Given the description of an element on the screen output the (x, y) to click on. 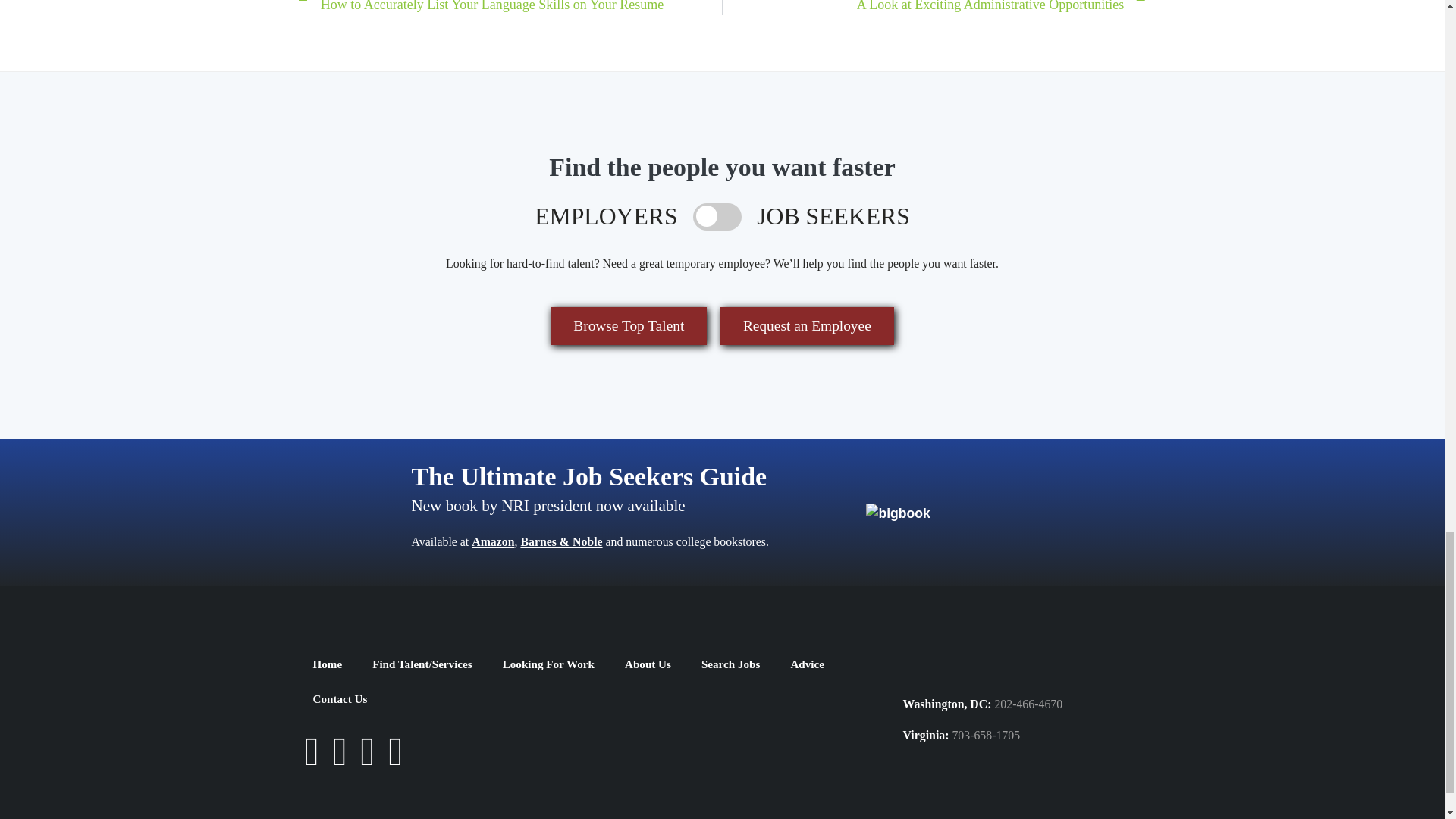
Connect with NRI, Inc on LinkedIn (367, 760)
Follow NRI, Inc on Facebook (310, 760)
Our Blog (395, 760)
Follow NRI, Inc on Twitter (338, 760)
bigbook (898, 513)
